Given the description of an element on the screen output the (x, y) to click on. 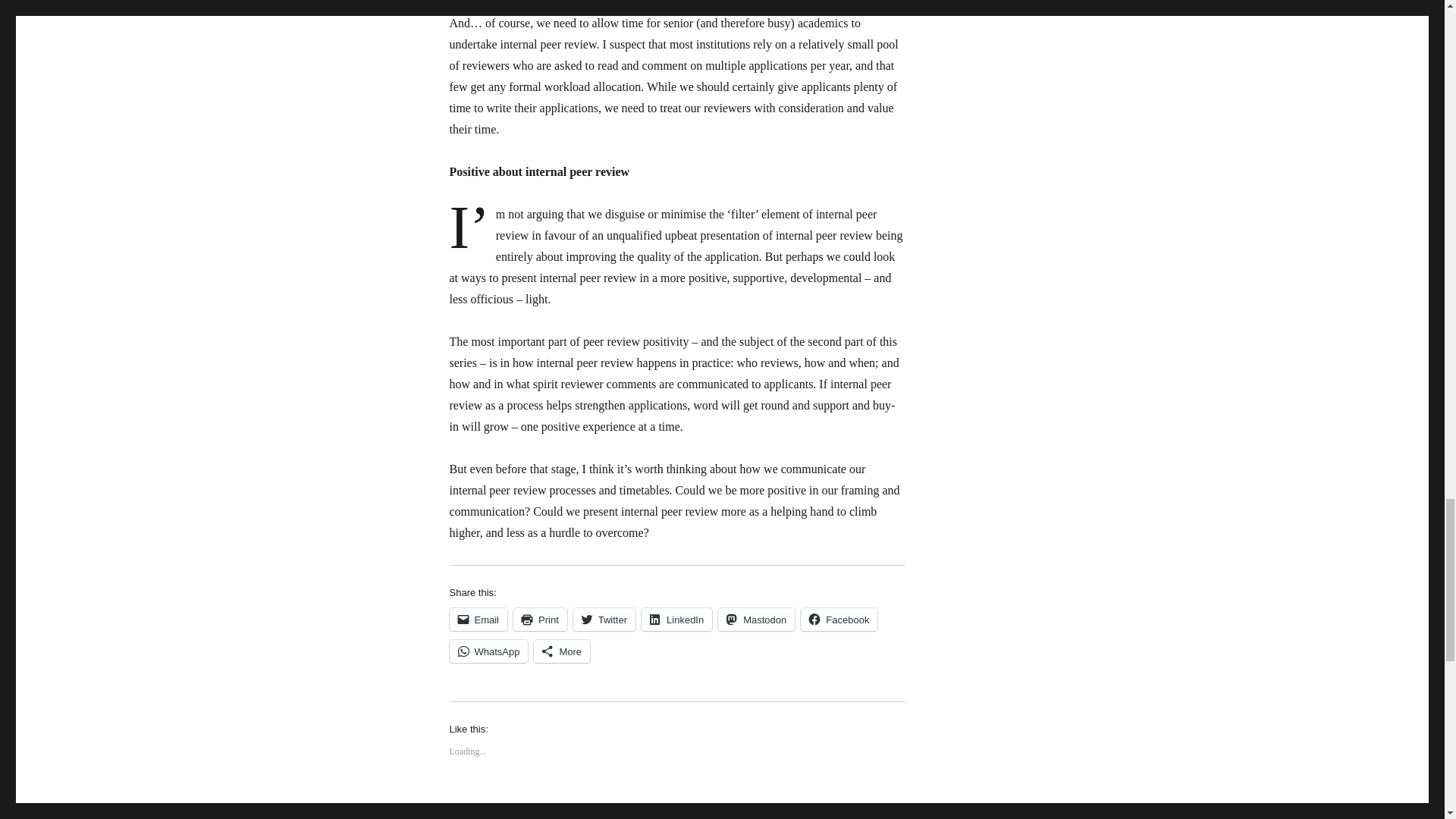
Click to email a link to a friend (477, 619)
Twitter (603, 619)
LinkedIn (676, 619)
Click to share on Facebook (838, 619)
Print (540, 619)
Mastodon (755, 619)
Facebook (838, 619)
Email (477, 619)
Click to print (540, 619)
Click to share on LinkedIn (676, 619)
